Given the description of an element on the screen output the (x, y) to click on. 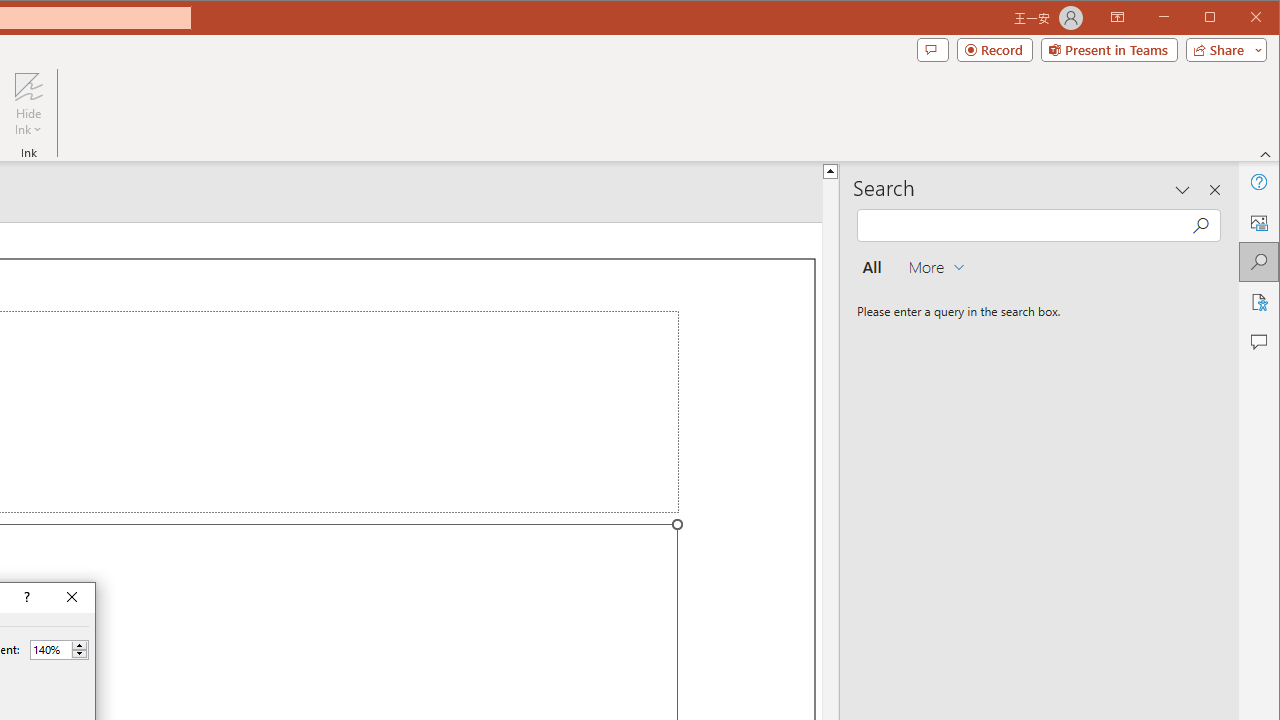
Percent (59, 650)
